Given the description of an element on the screen output the (x, y) to click on. 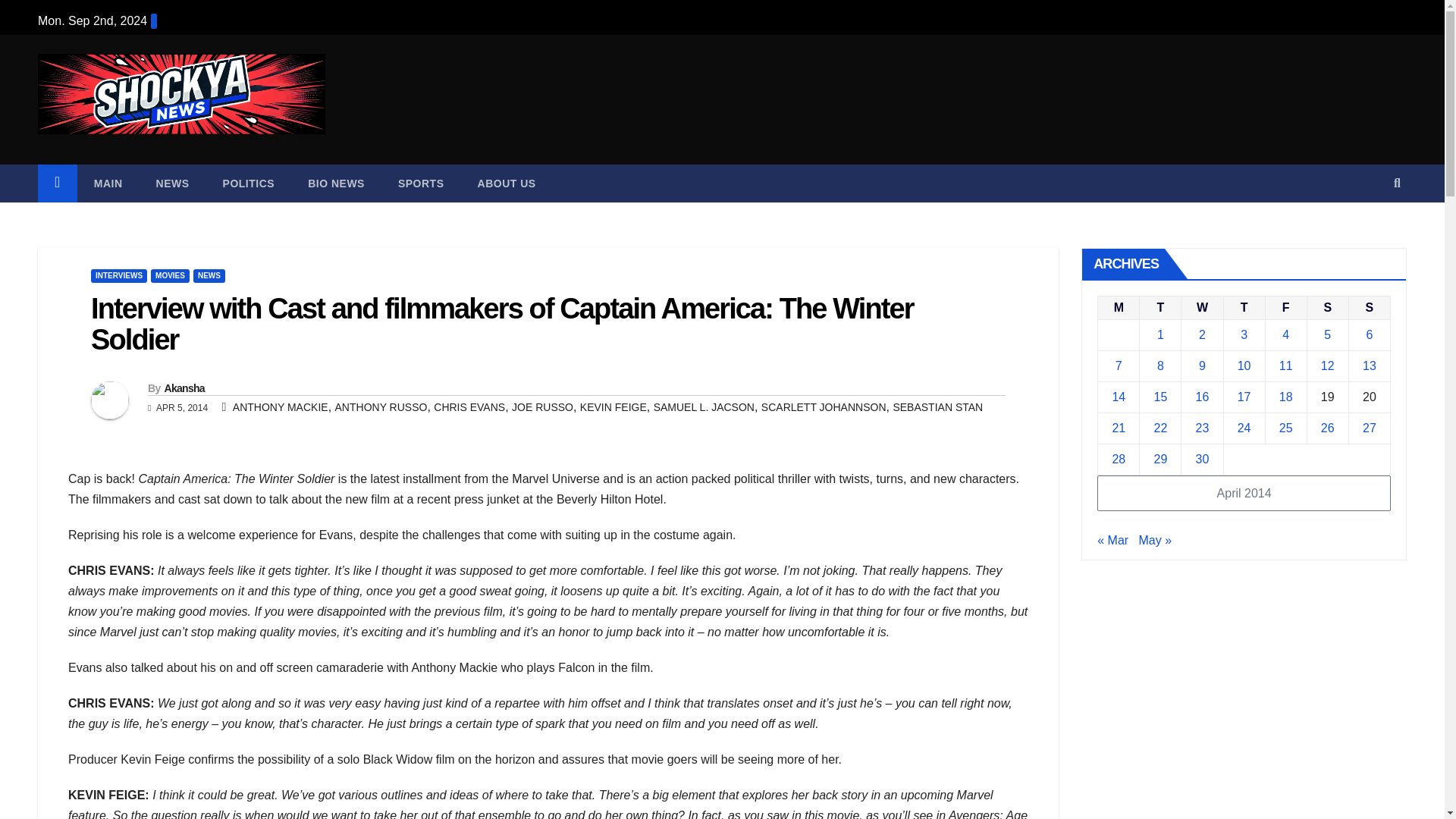
Tuesday (1160, 307)
INTERVIEWS (118, 275)
BIO NEWS (336, 183)
POLITICS (249, 183)
JOE RUSSO (542, 407)
MOVIES (170, 275)
SPORTS (421, 183)
Sunday (1369, 307)
ABOUT US (507, 183)
BIO NEWS (336, 183)
